Given the description of an element on the screen output the (x, y) to click on. 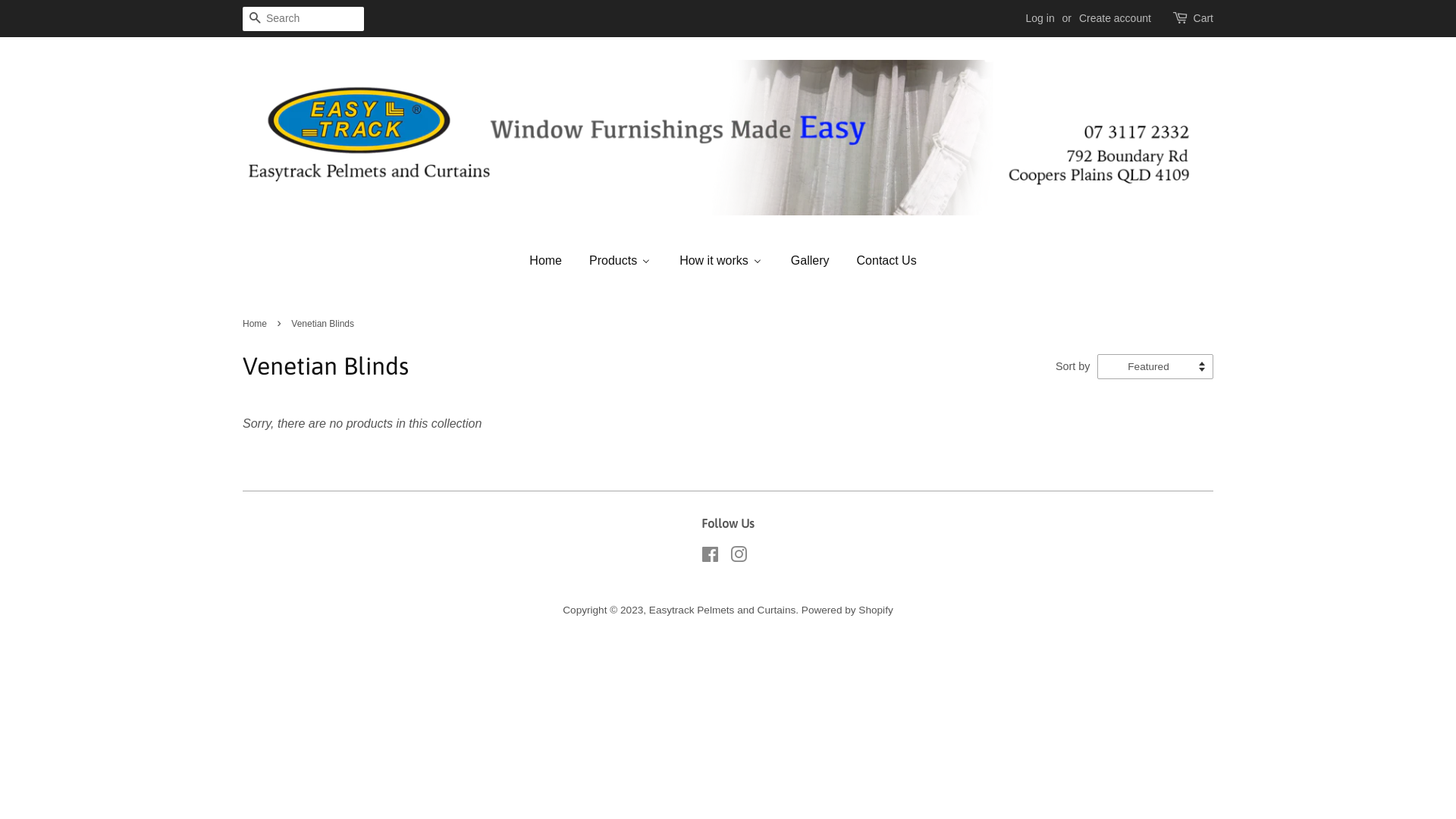
Products Element type: text (619, 260)
Gallery Element type: text (809, 260)
Log in Element type: text (1040, 18)
Easytrack Pelmets and Curtains Element type: text (722, 609)
Cart Element type: text (1203, 18)
Home Element type: text (256, 323)
Search Element type: text (254, 18)
Create account Element type: text (1115, 18)
Contact Us Element type: text (885, 260)
Home Element type: text (550, 260)
Instagram Element type: text (738, 557)
Facebook Element type: text (709, 557)
How it works Element type: text (720, 260)
Powered by Shopify Element type: text (847, 609)
